Given the description of an element on the screen output the (x, y) to click on. 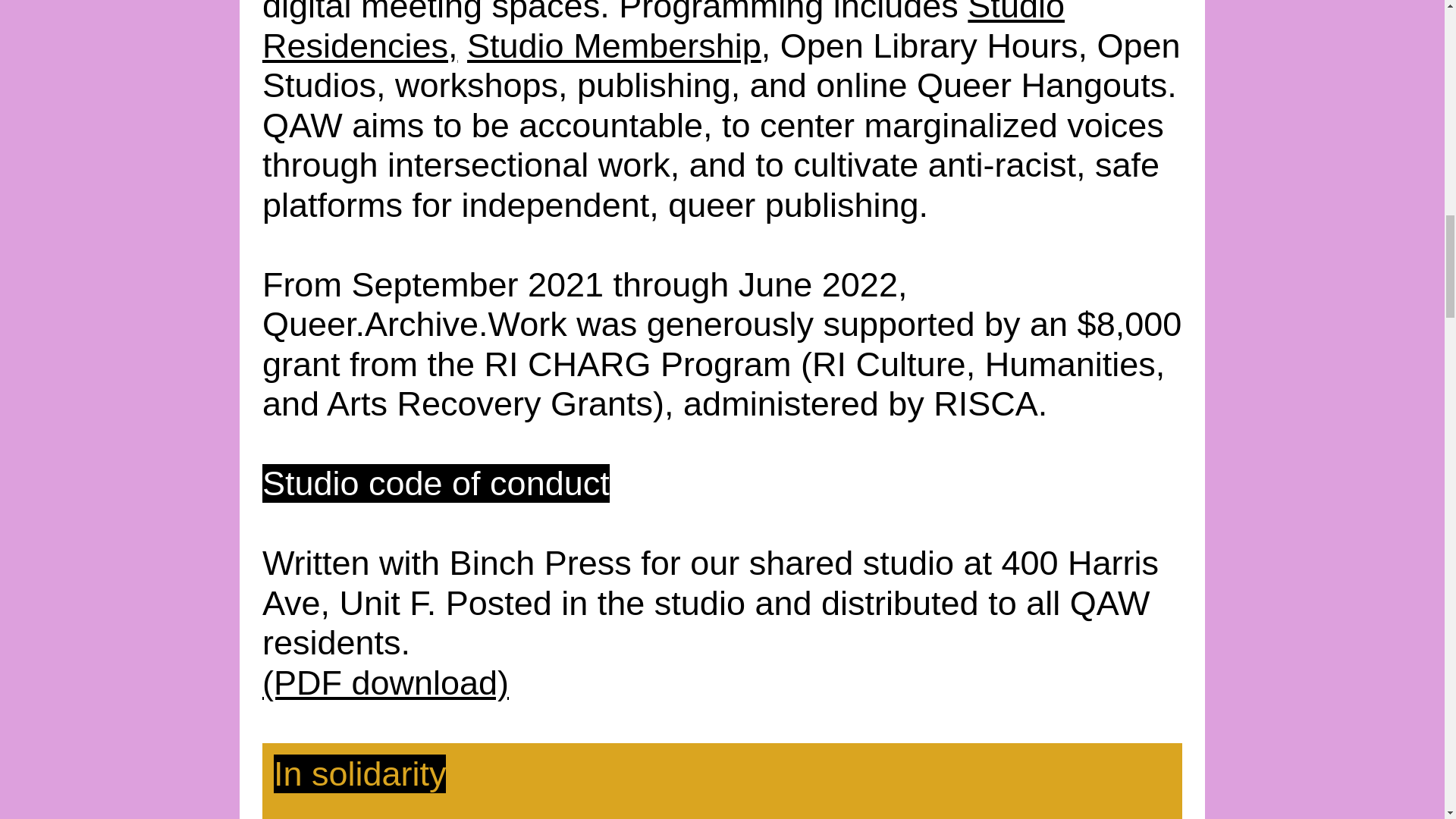
Studio Membership (614, 45)
